Given the description of an element on the screen output the (x, y) to click on. 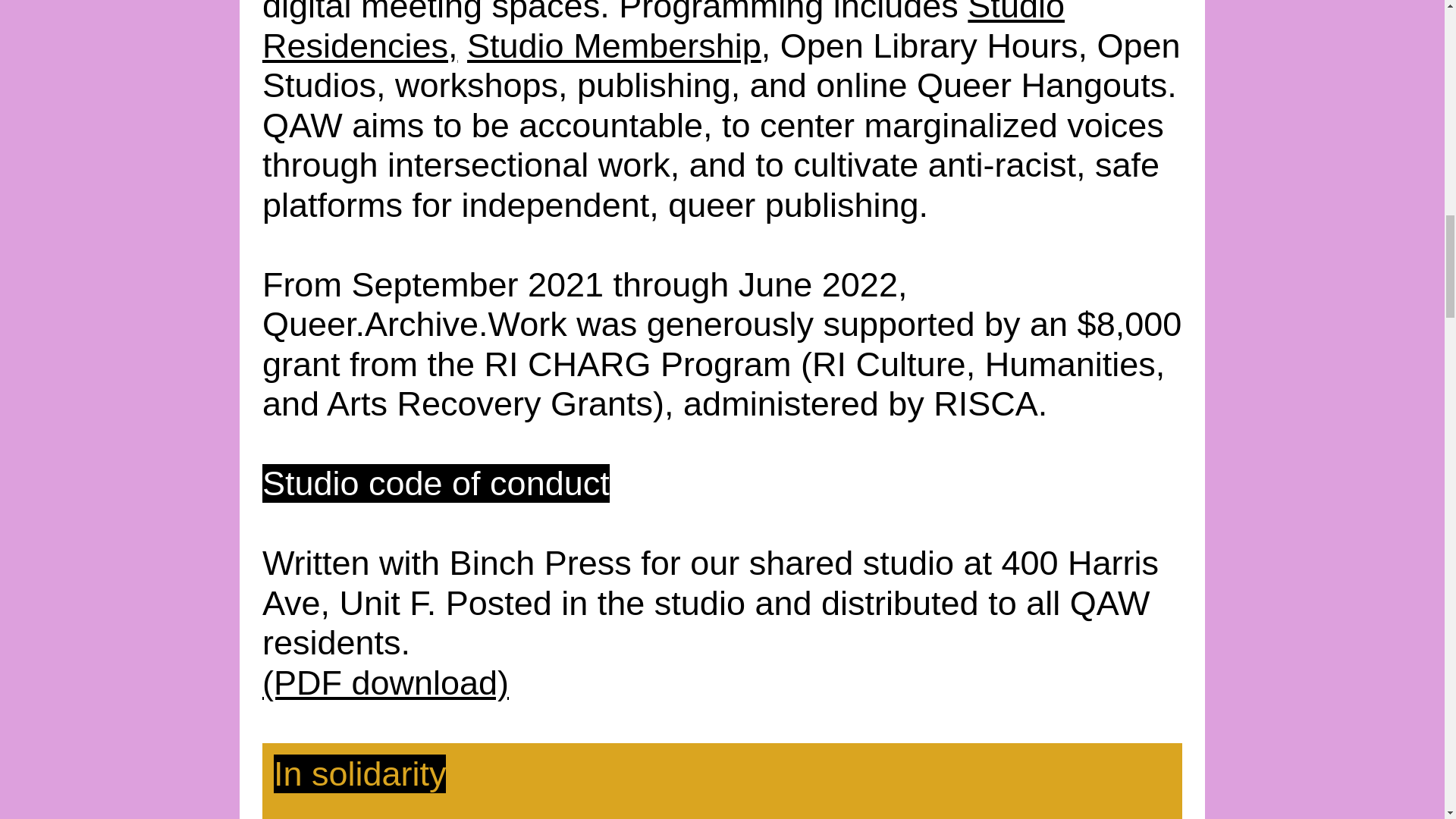
Studio Membership (614, 45)
